Given the description of an element on the screen output the (x, y) to click on. 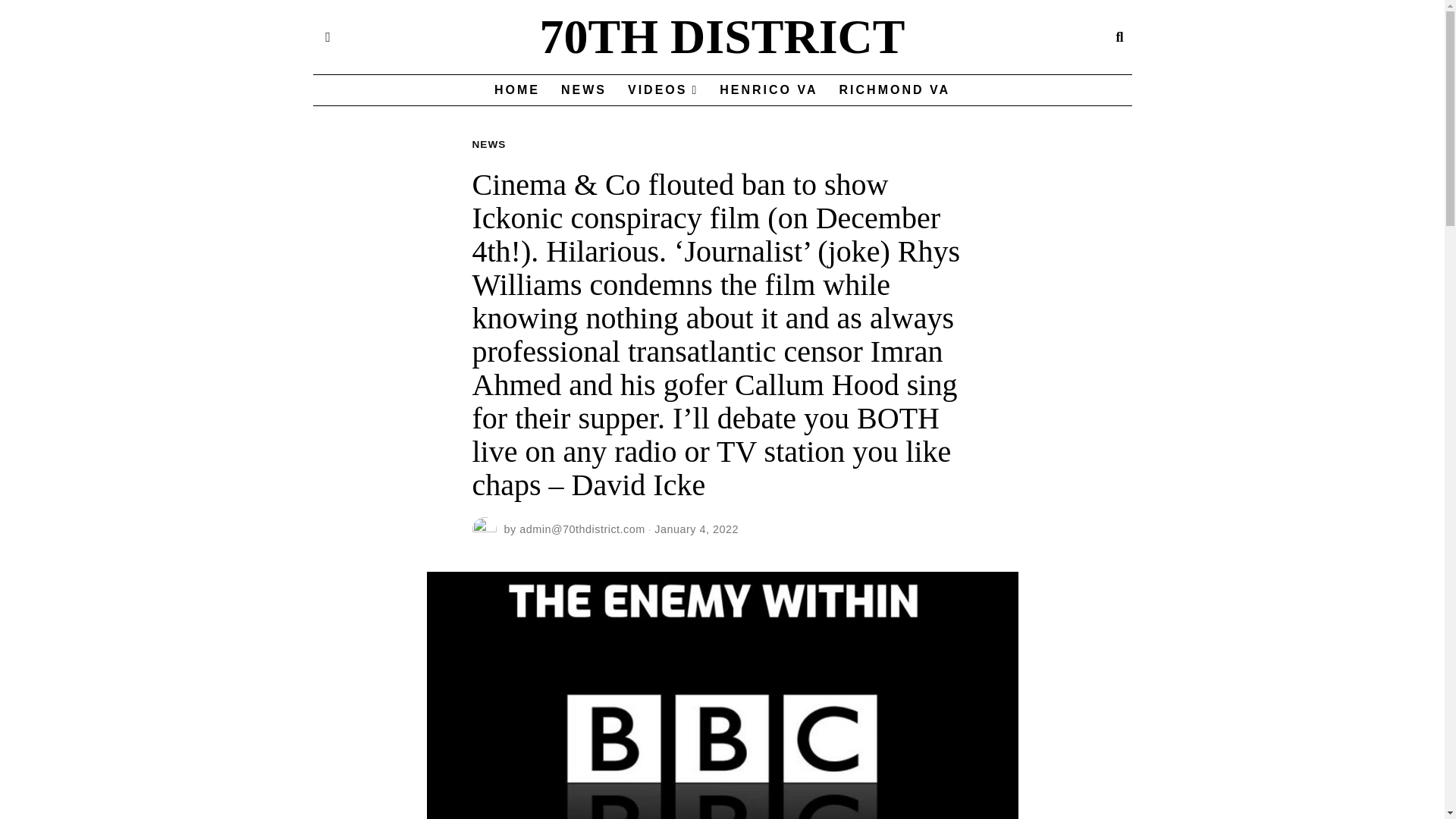
NEWS (488, 144)
NEWS (583, 90)
RICHMOND VA (894, 90)
VIDEOS (663, 90)
HENRICO VA (768, 90)
HOME (516, 90)
70TH DISTRICT (722, 36)
